Given the description of an element on the screen output the (x, y) to click on. 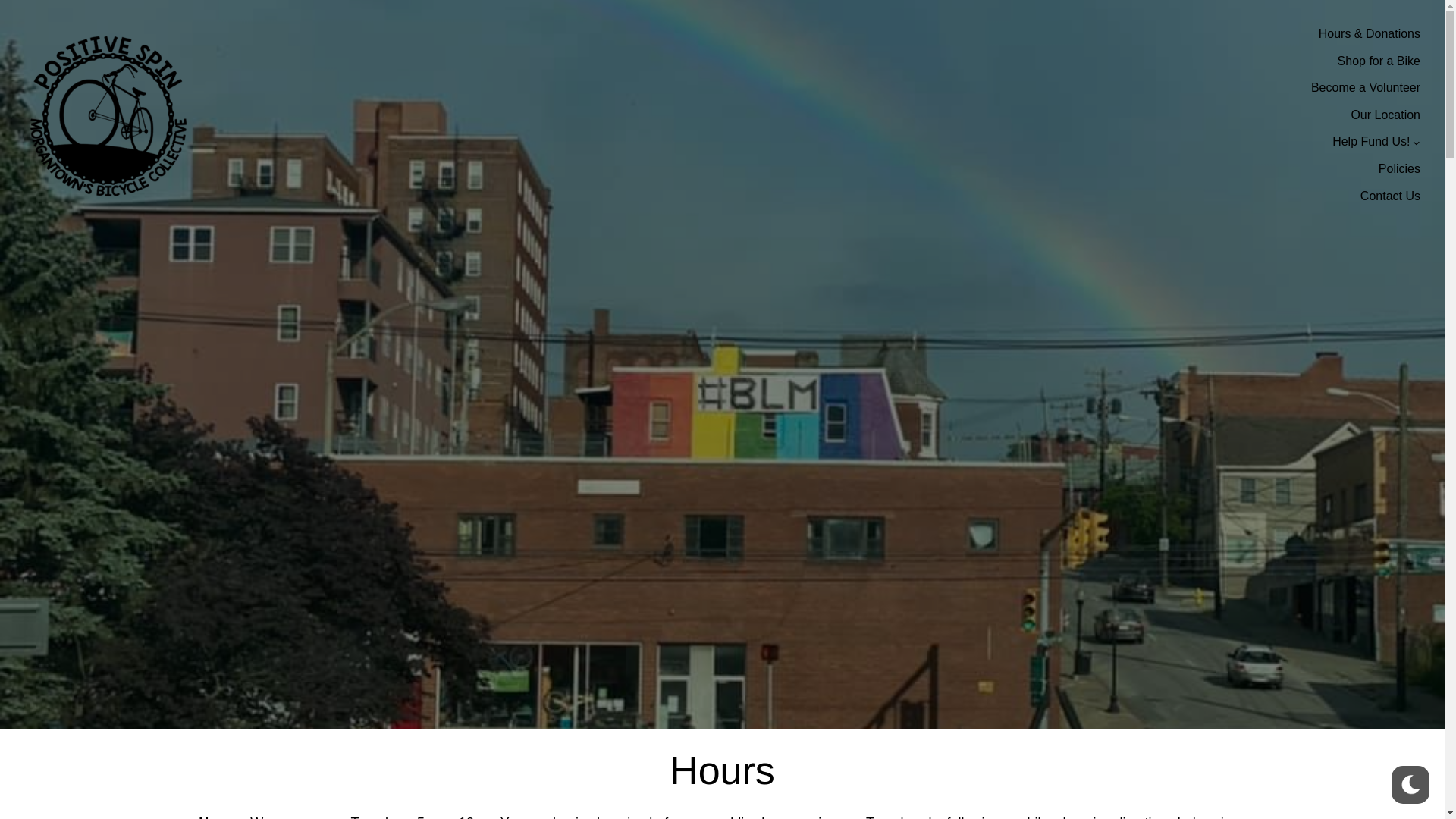
Shop for a Bike (1379, 61)
Help Fund Us! (1370, 141)
bike shopping directions below (1119, 816)
Our Location (1386, 115)
Policies (1399, 168)
Contact Us (1390, 196)
Become a Volunteer (1366, 87)
